Given the description of an element on the screen output the (x, y) to click on. 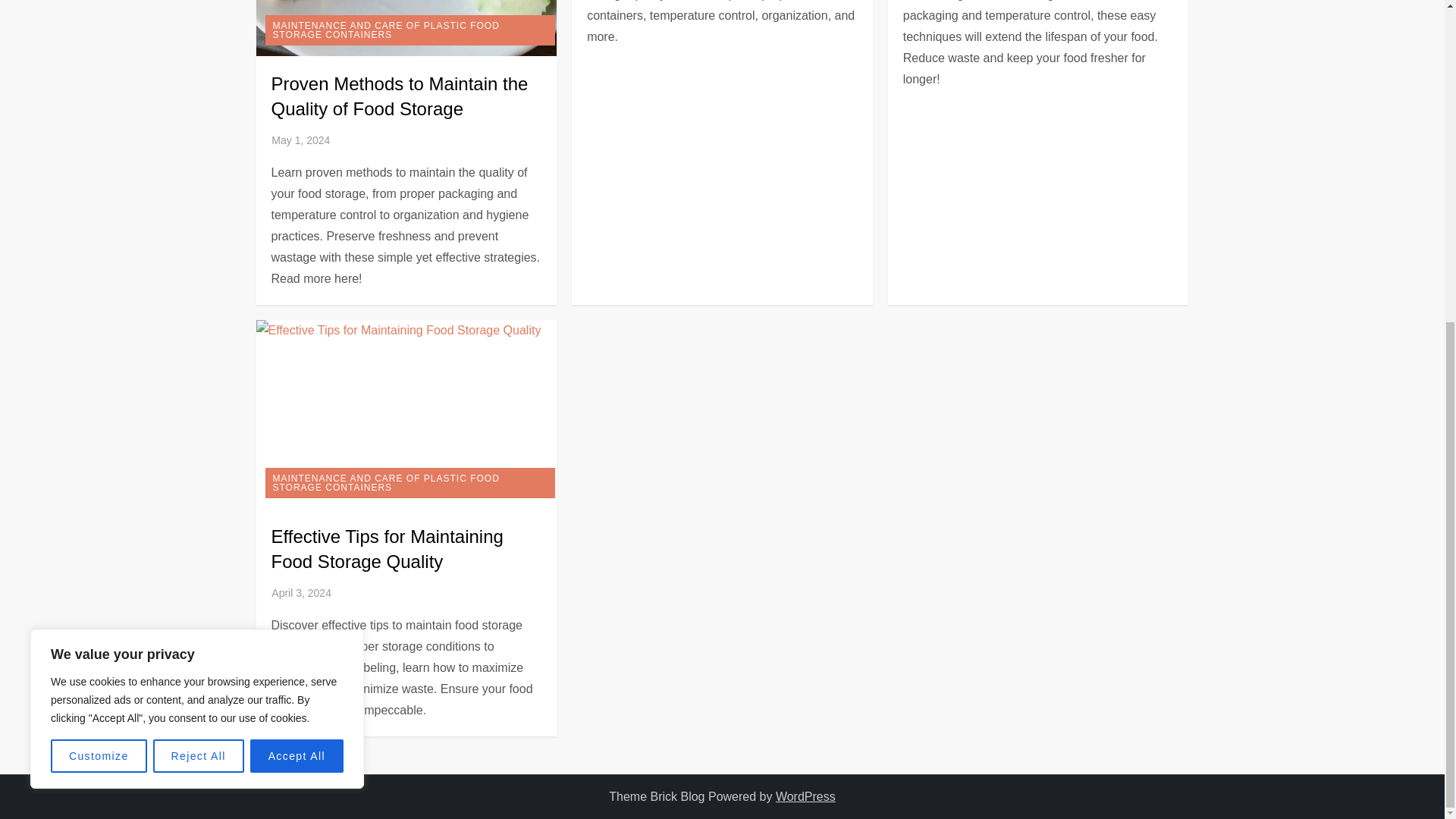
Customize (98, 231)
Proven Methods to Maintain the Quality of Food Storage (399, 96)
May 1, 2024 (300, 140)
Accept All (296, 231)
MAINTENANCE AND CARE OF PLASTIC FOOD STORAGE CONTAINERS (410, 30)
Reject All (198, 231)
